Given the description of an element on the screen output the (x, y) to click on. 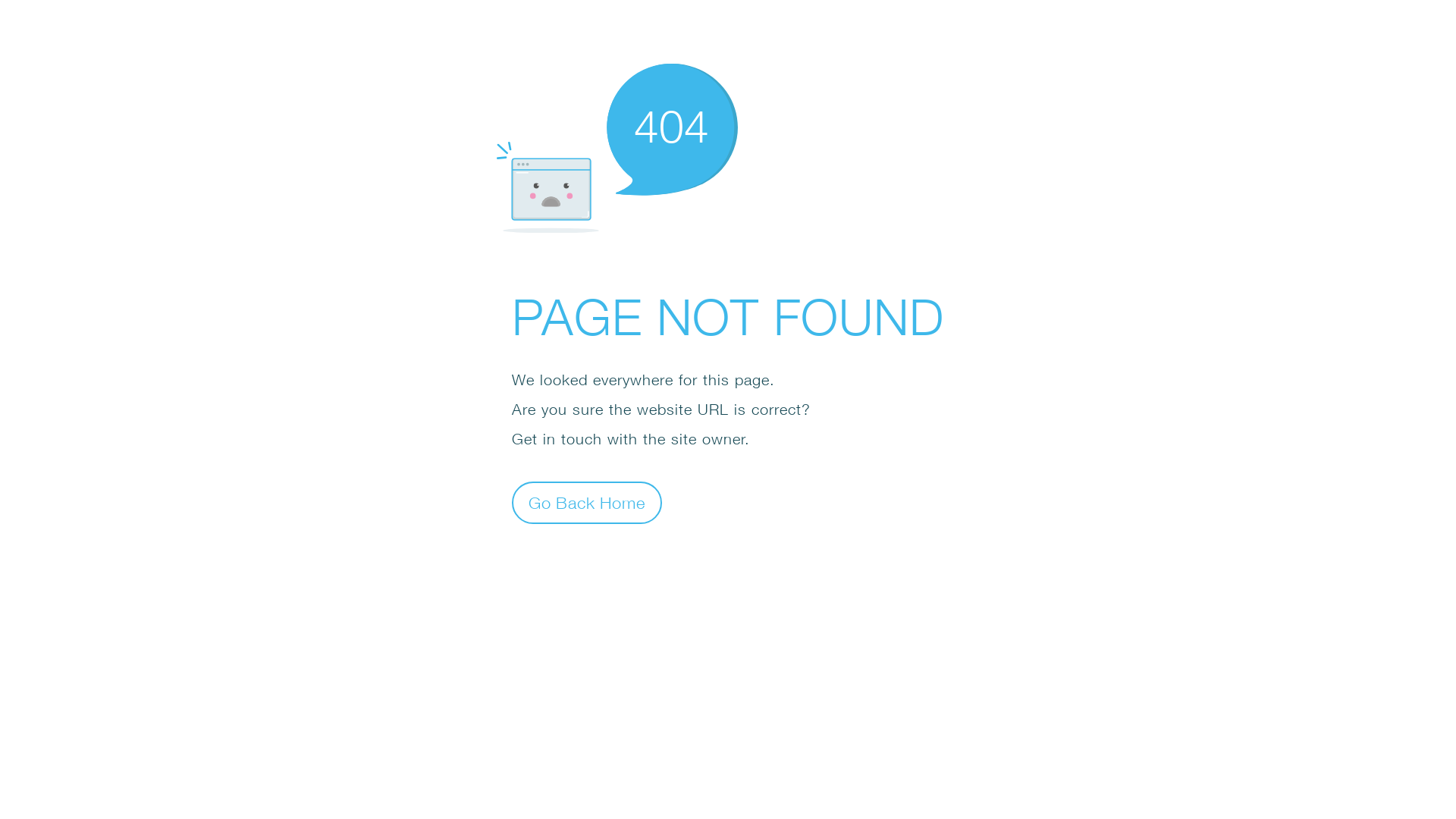
Go Back Home Element type: text (586, 502)
